Given the description of an element on the screen output the (x, y) to click on. 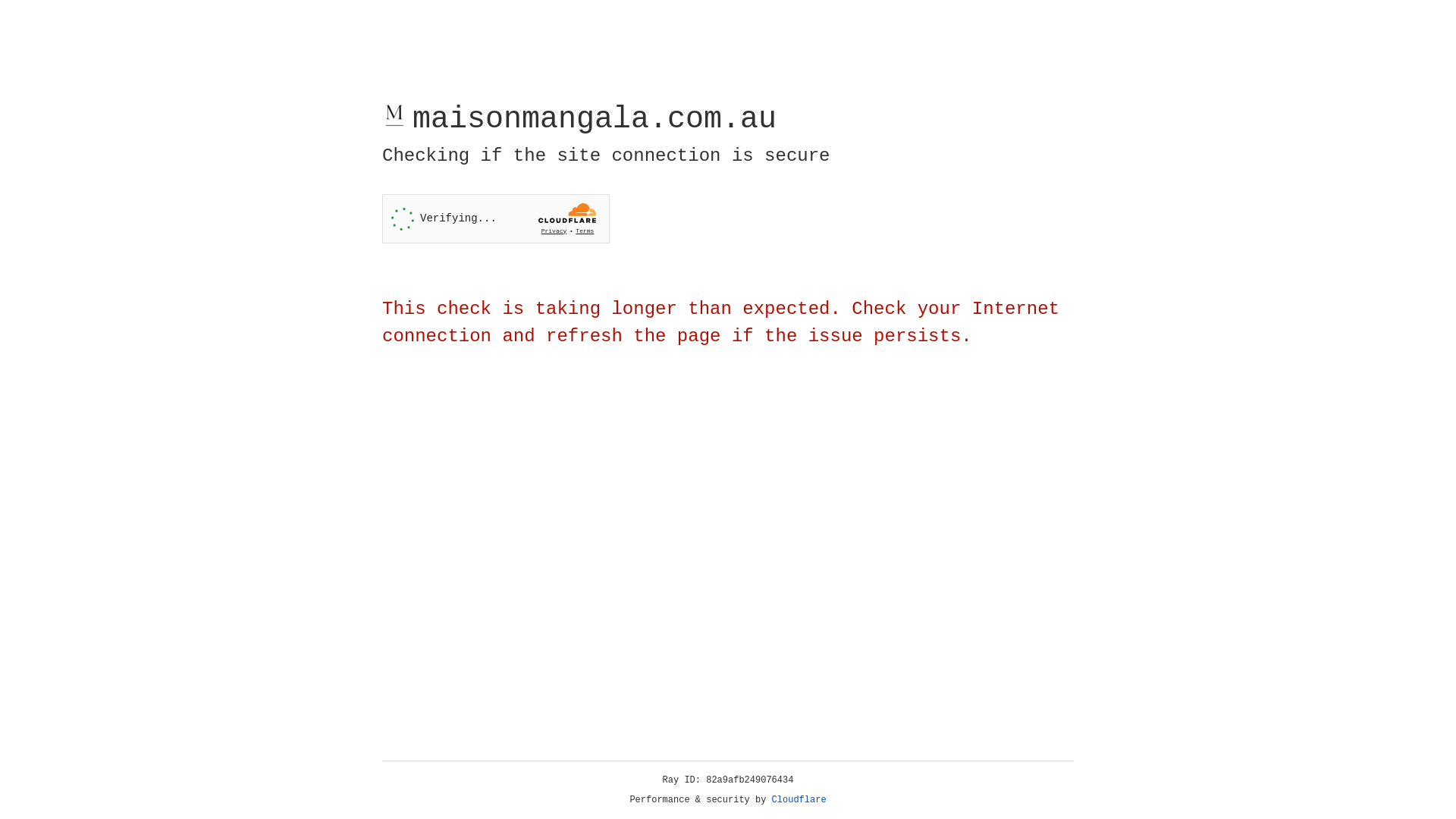
Widget containing a Cloudflare security challenge Element type: hover (495, 218)
Cloudflare Element type: text (798, 799)
